Given the description of an element on the screen output the (x, y) to click on. 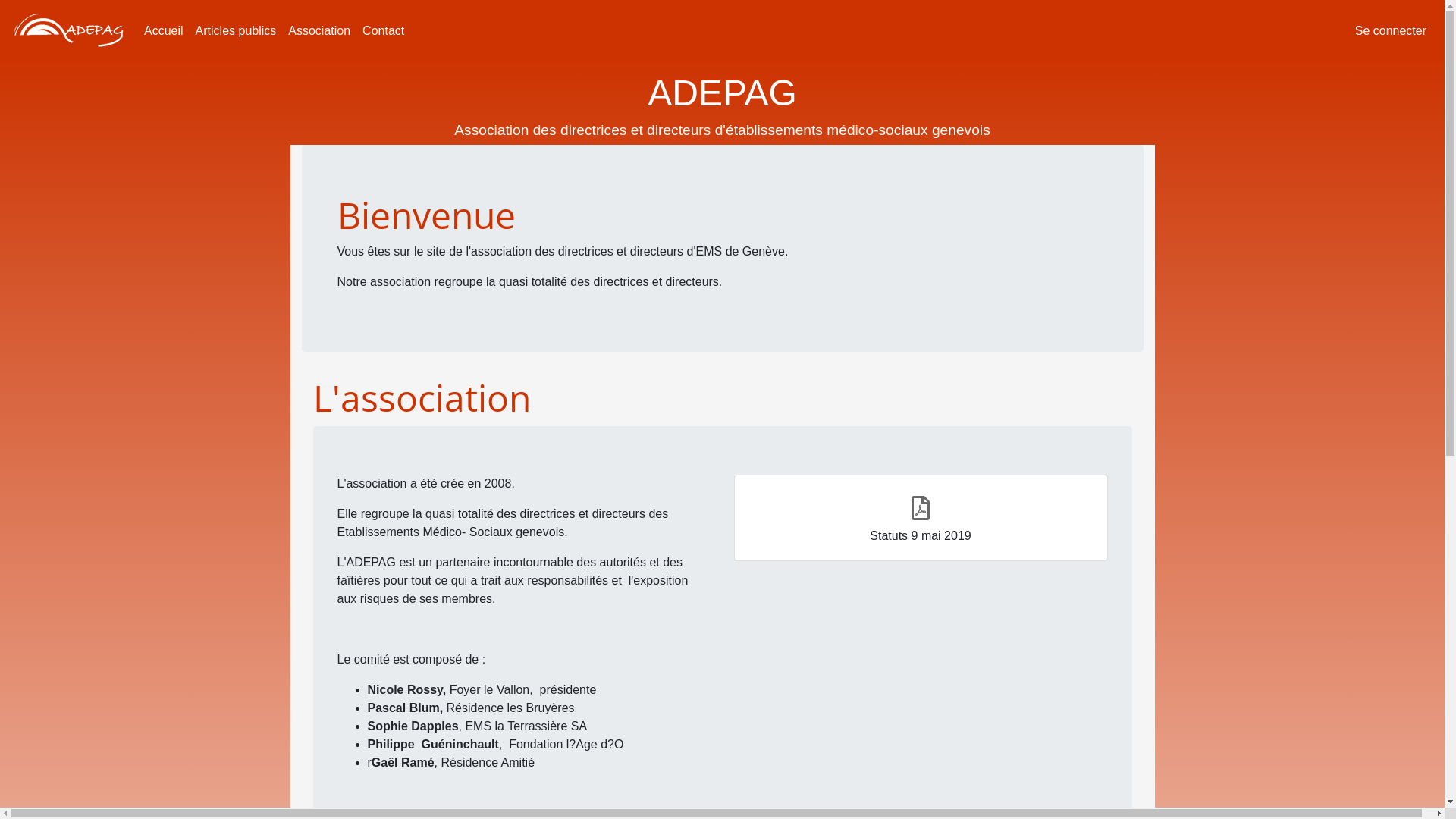
Se connecter Element type: text (1390, 30)
Contact Element type: text (383, 30)
Accueil Element type: text (163, 30)
Articles publics Element type: text (235, 30)
Association Element type: text (319, 30)
